Given the description of an element on the screen output the (x, y) to click on. 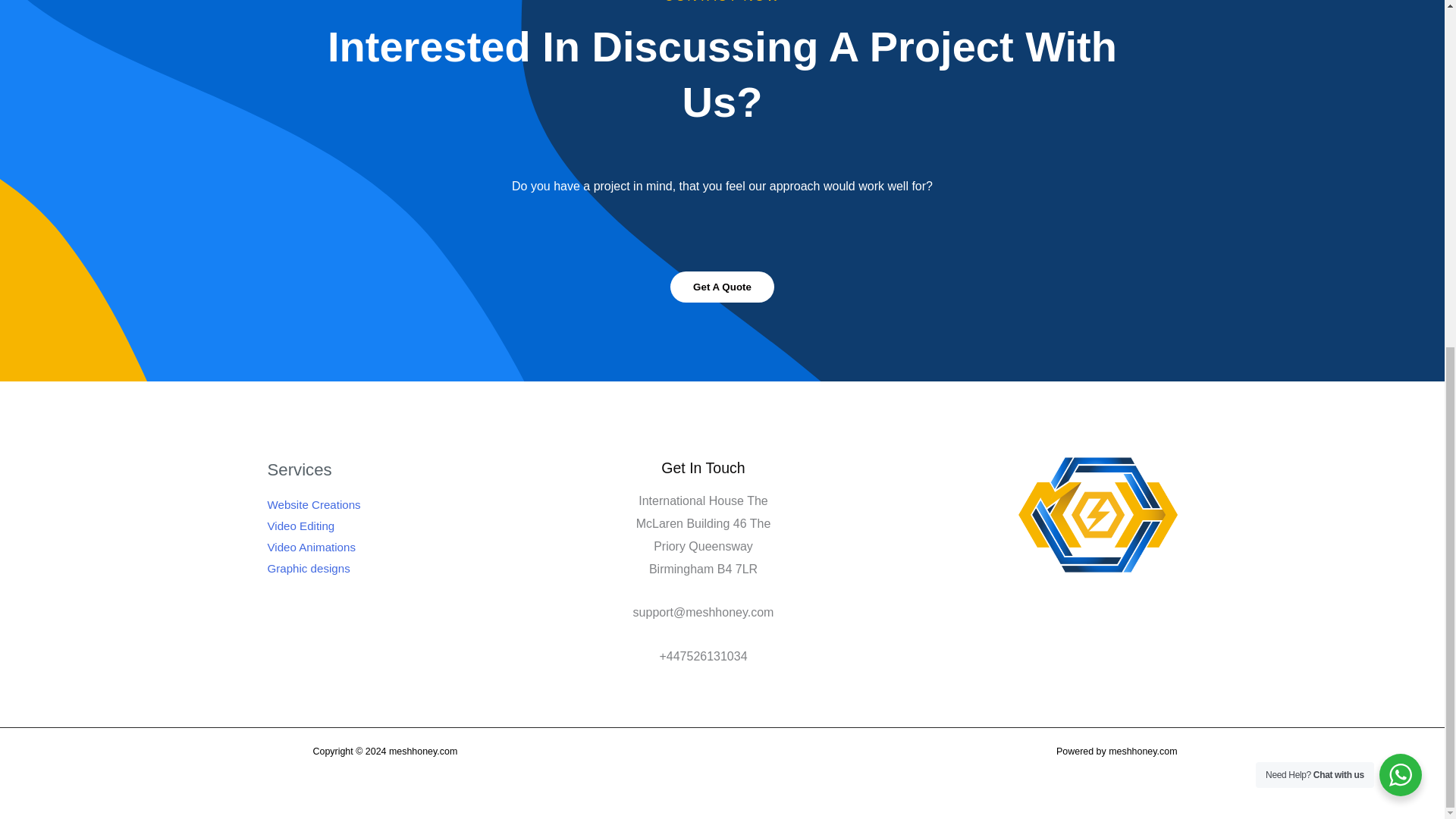
Website Creations (312, 504)
Need Help? Chat with us (1400, 177)
Video Animations (310, 546)
Video Editing (300, 525)
Graphic designs (307, 567)
Get A Quote (721, 286)
